Given the description of an element on the screen output the (x, y) to click on. 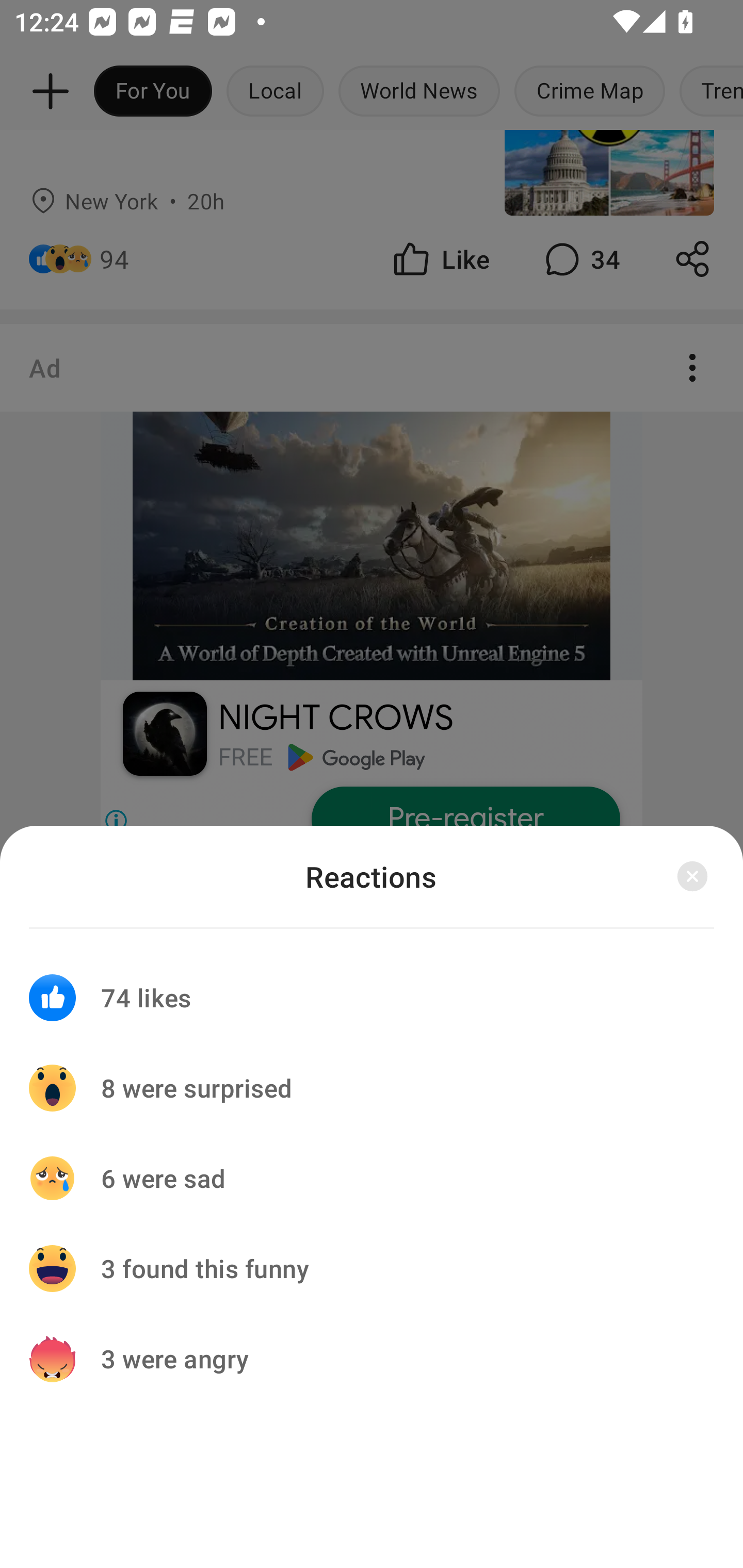
74 likes (371, 985)
8 were surprised (371, 1087)
6 were sad (371, 1178)
3 found this funny (371, 1268)
3 were angry (371, 1358)
